Given the description of an element on the screen output the (x, y) to click on. 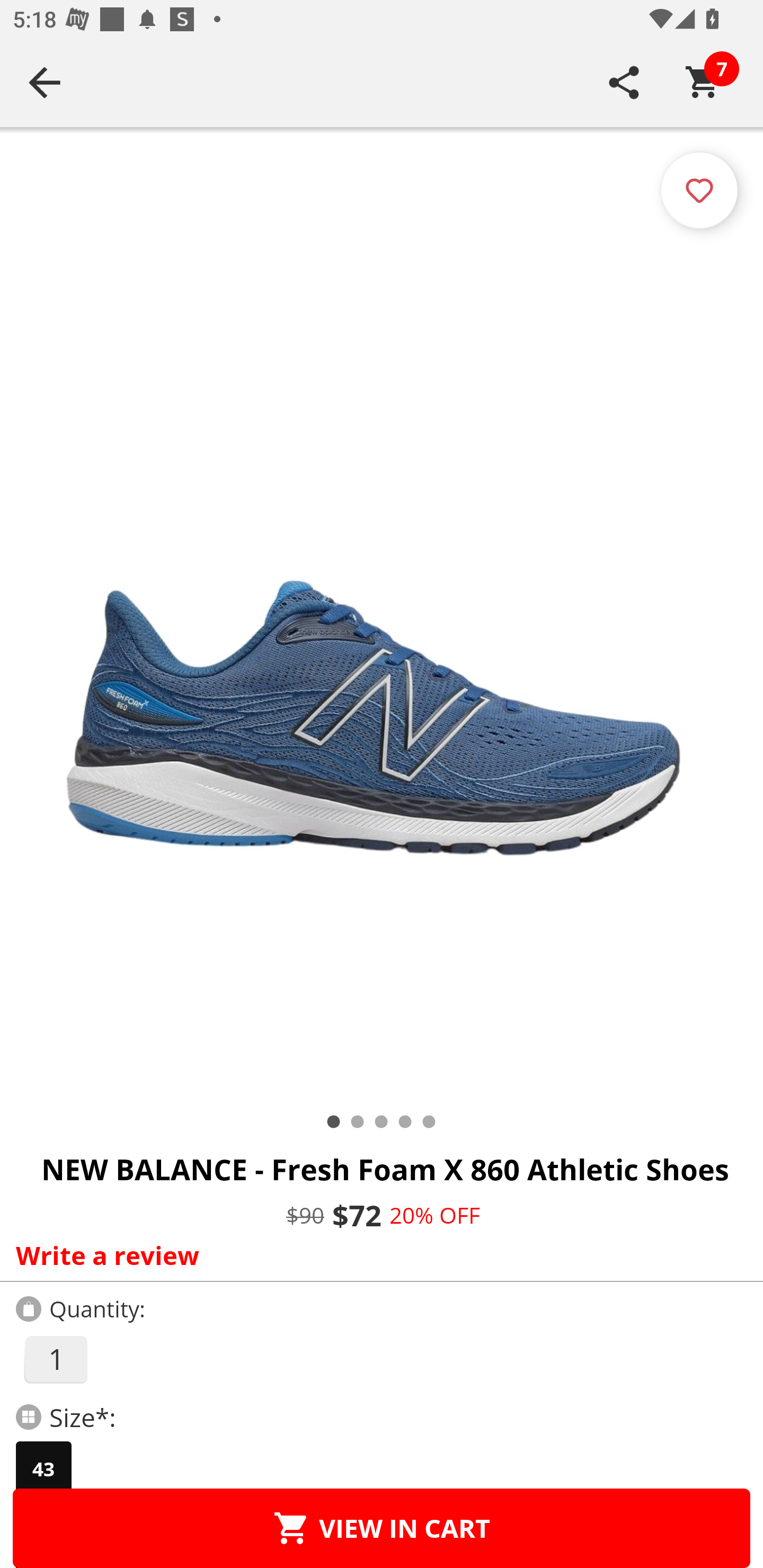
Navigate up (44, 82)
SHARE (623, 82)
Cart (703, 81)
Write a review (377, 1255)
1 (55, 1358)
43 (43, 1468)
VIEW IN CART (381, 1528)
